Given the description of an element on the screen output the (x, y) to click on. 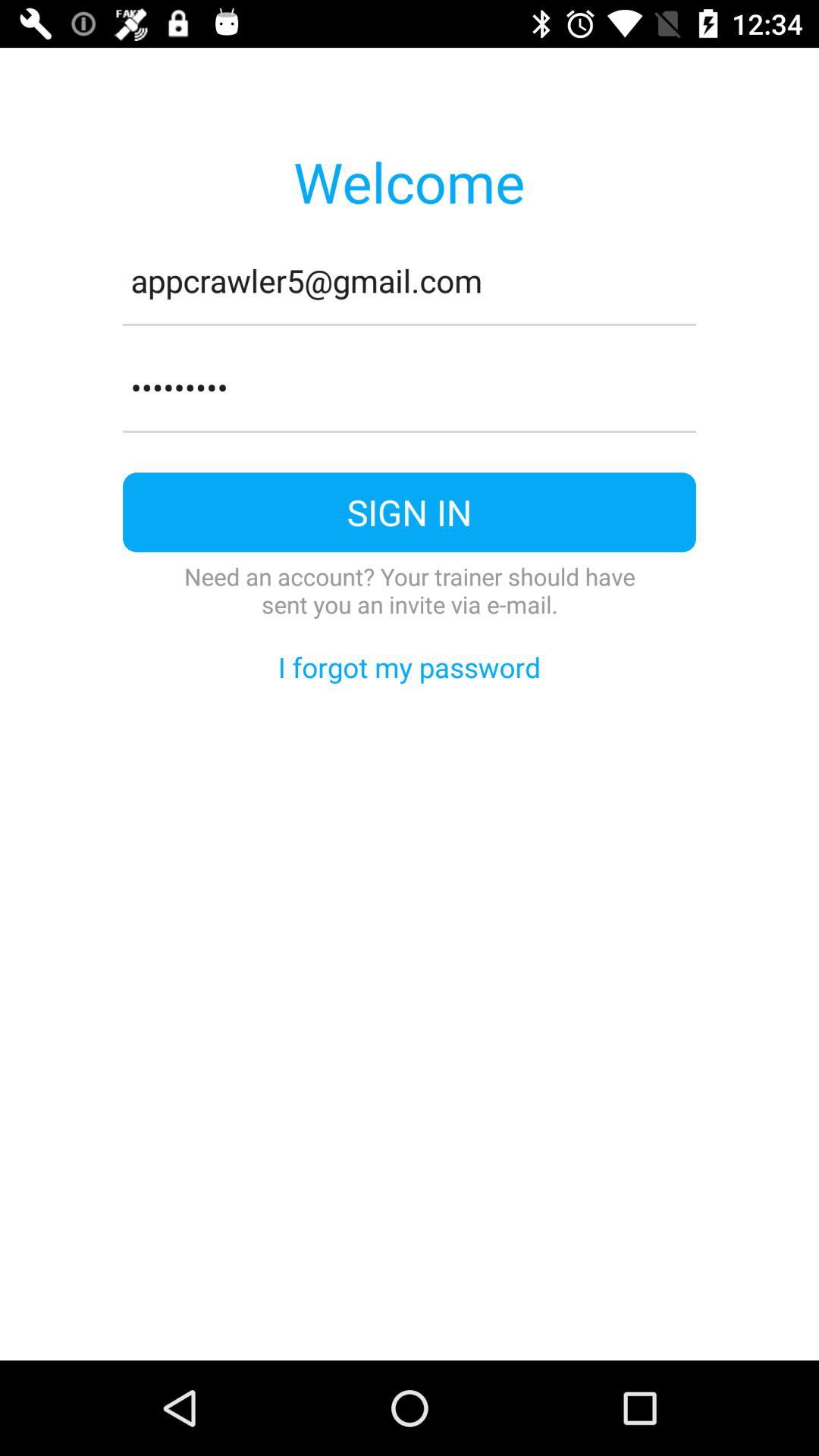
choose the item below the appcrawler5@gmail.com item (409, 324)
